Given the description of an element on the screen output the (x, y) to click on. 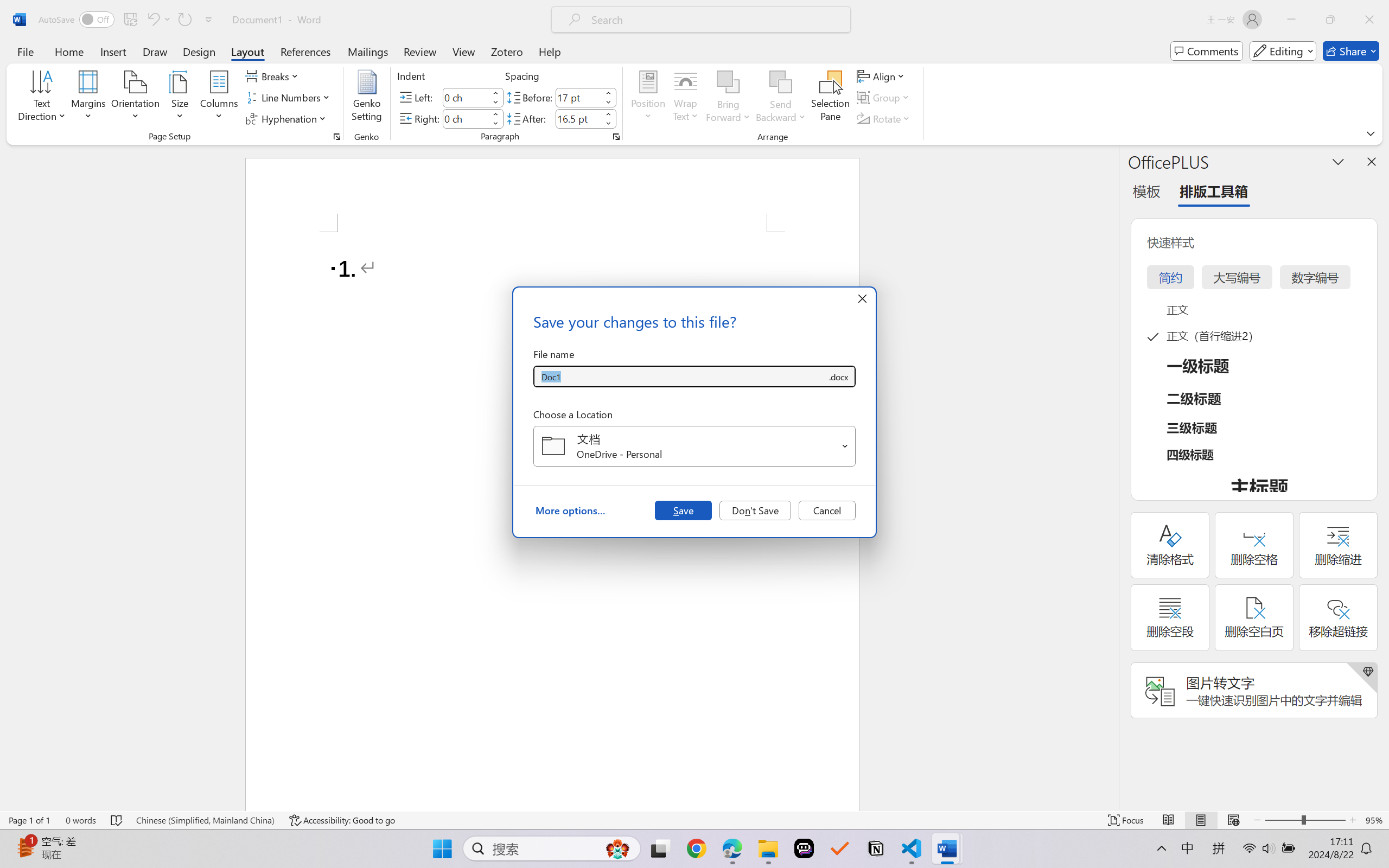
More (608, 113)
File name (680, 376)
